Given the description of an element on the screen output the (x, y) to click on. 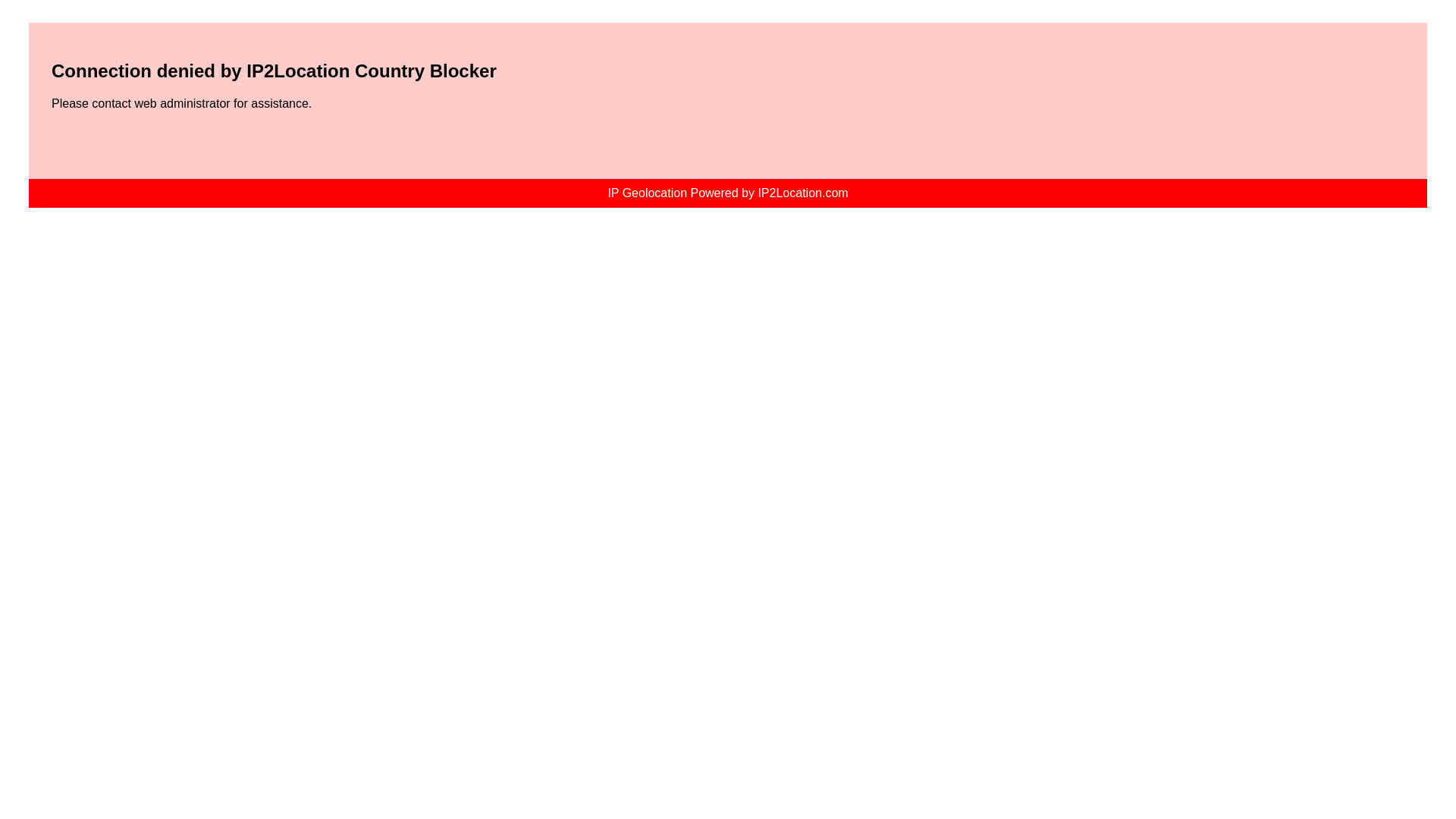
IP Geolocation Powered by IP2Location.com (727, 192)
